Given the description of an element on the screen output the (x, y) to click on. 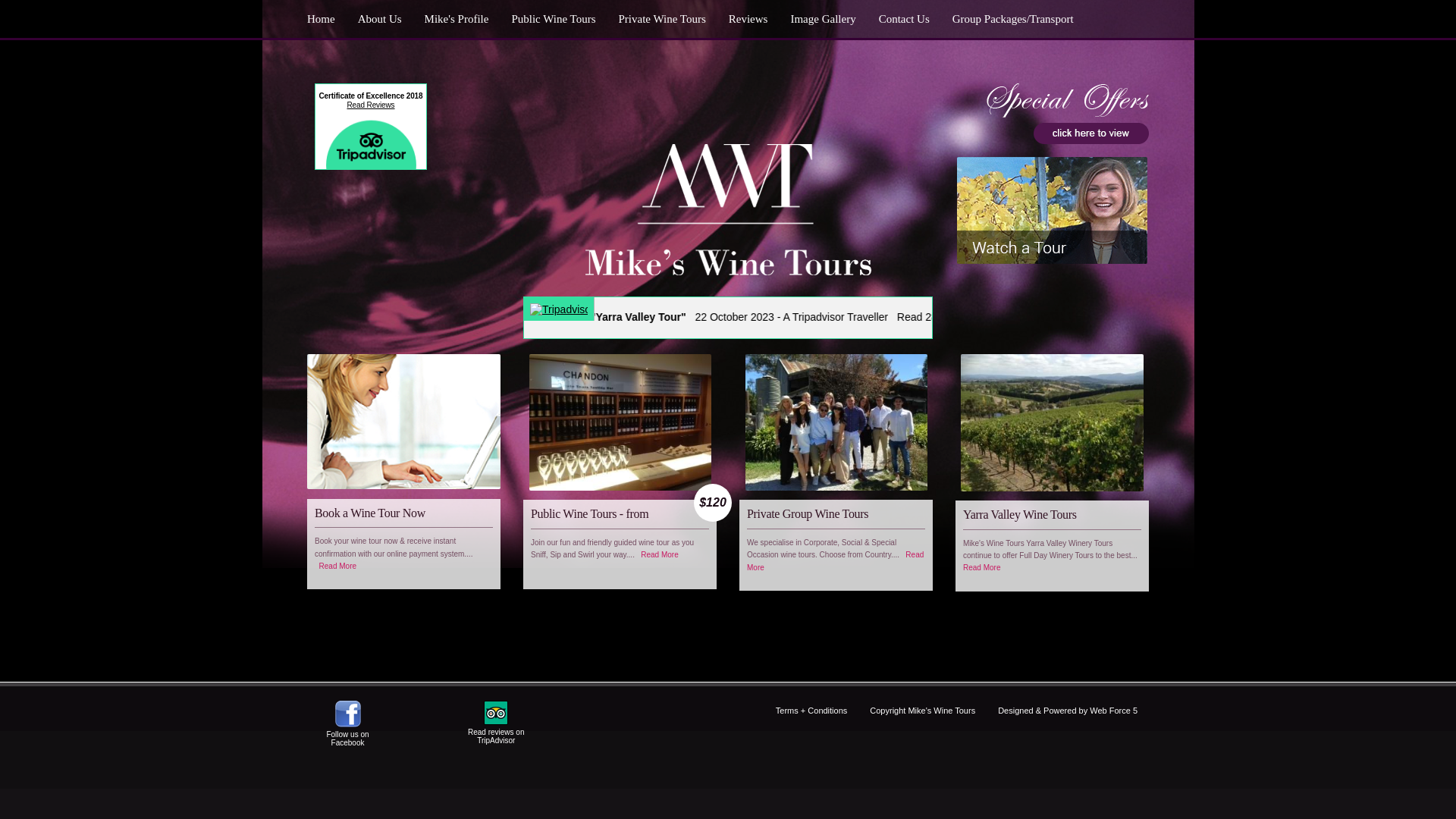
About Us Element type: text (379, 18)
Read More Element type: text (981, 567)
Group Packages/Transport Element type: text (1013, 18)
Reviews Element type: text (748, 18)
Private Wine Tours Element type: text (661, 18)
Contact Us Element type: text (904, 18)
Designed & Powered by Web Force 5 Element type: text (1067, 710)
Read More Element type: text (834, 560)
Read More Element type: text (658, 554)
Read More Element type: text (337, 565)
Mike's Profile Element type: text (456, 18)
Copyright Mike's Wine Tours Element type: text (922, 710)
Public Wine Tours Element type: text (552, 18)
Home Element type: text (326, 18)
Terms + Conditions Element type: text (811, 710)
Image Gallery Element type: text (822, 18)
